Given the description of an element on the screen output the (x, y) to click on. 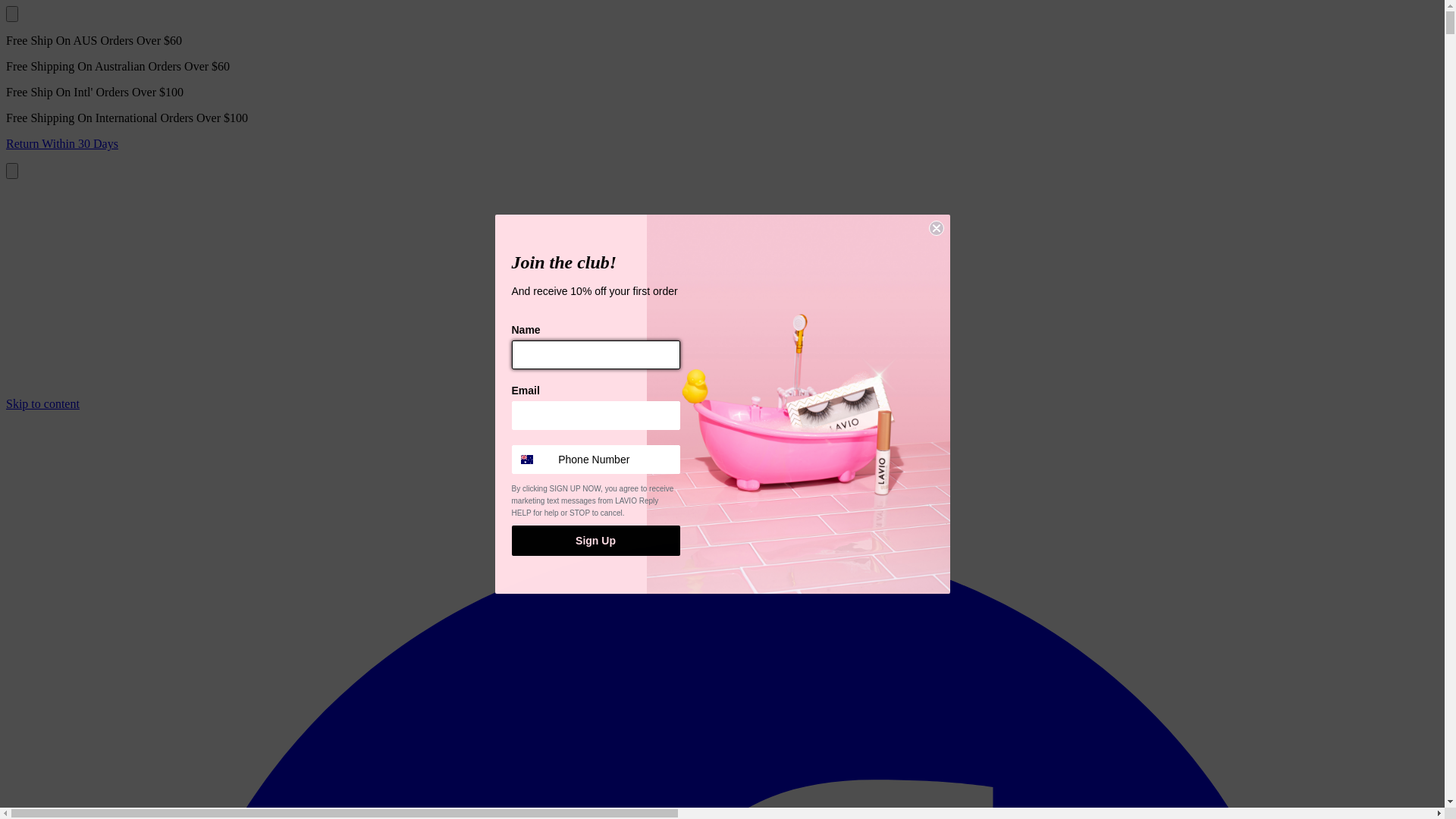
Australia Element type: hover (526, 459)
Next Element type: hover (12, 170)
Skip to content Element type: text (42, 403)
Previous Element type: hover (12, 13)
Return Within 30 Days Element type: text (722, 143)
